Given the description of an element on the screen output the (x, y) to click on. 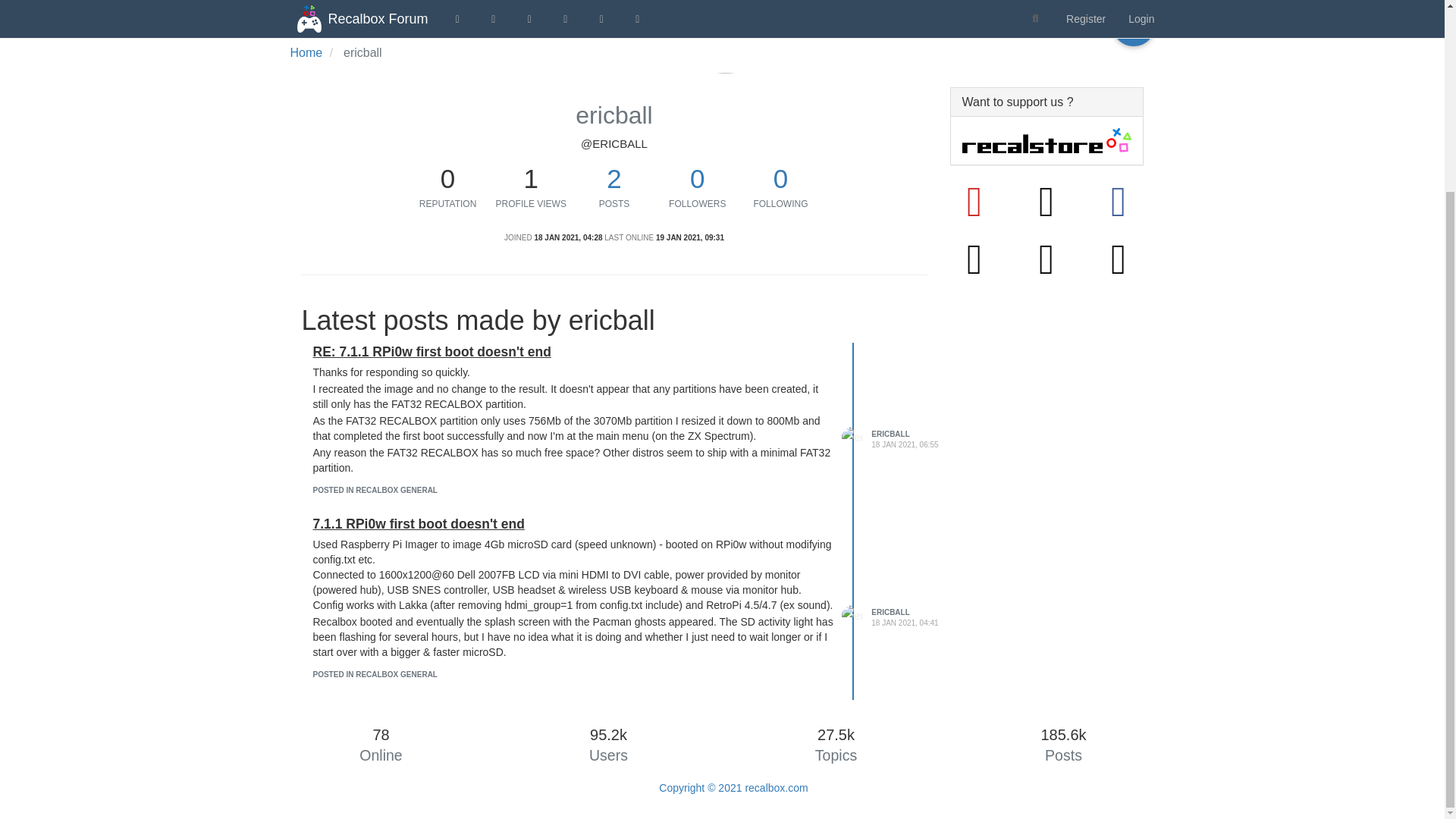
Home (305, 51)
